Given the description of an element on the screen output the (x, y) to click on. 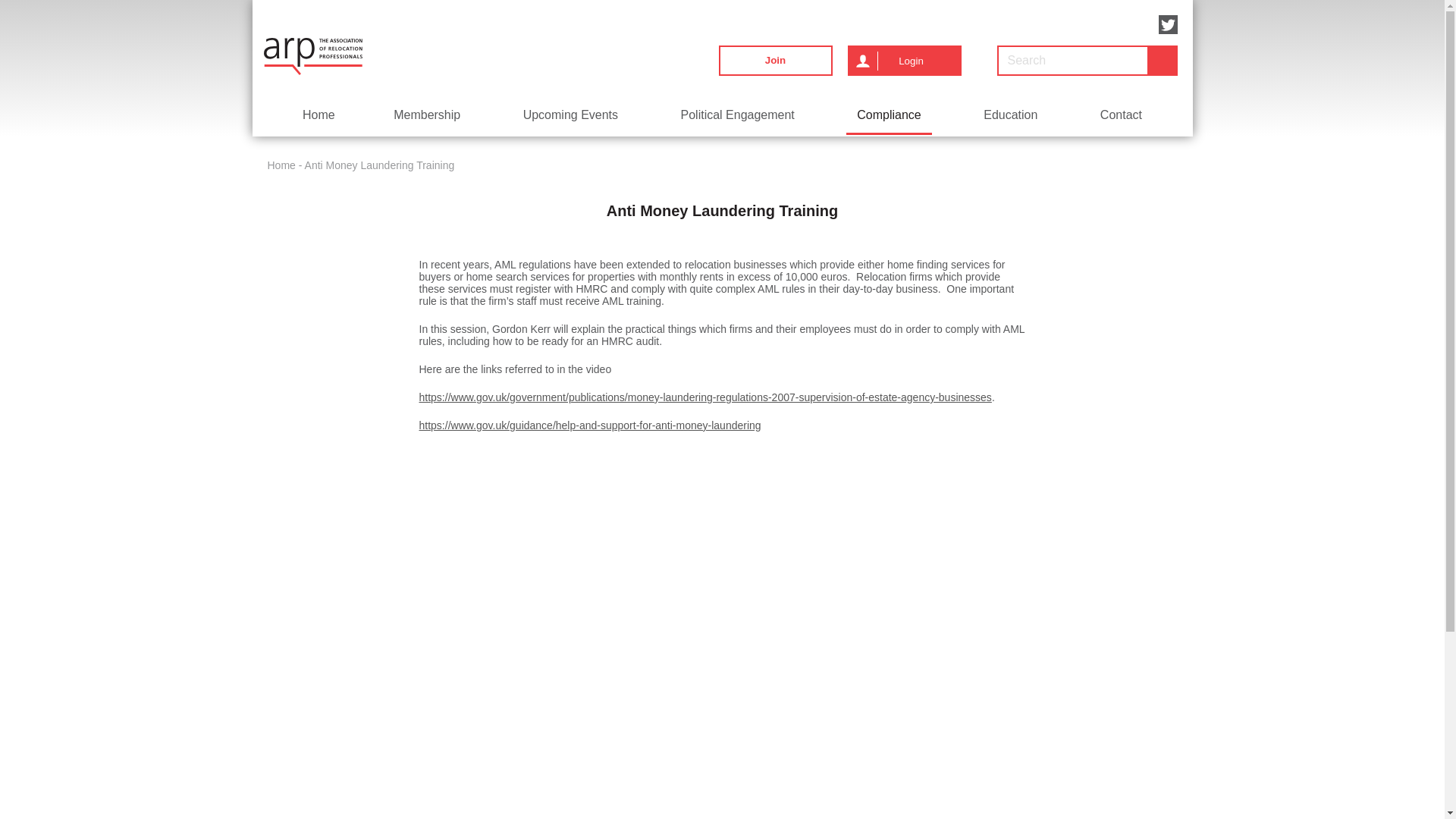
Join (775, 60)
Login (903, 60)
Go to the homepage (312, 56)
Search (1161, 60)
Become an ARP member (775, 60)
Political Engagement (737, 114)
Search (1161, 60)
Compliance (888, 114)
ARP (312, 56)
